Given the description of an element on the screen output the (x, y) to click on. 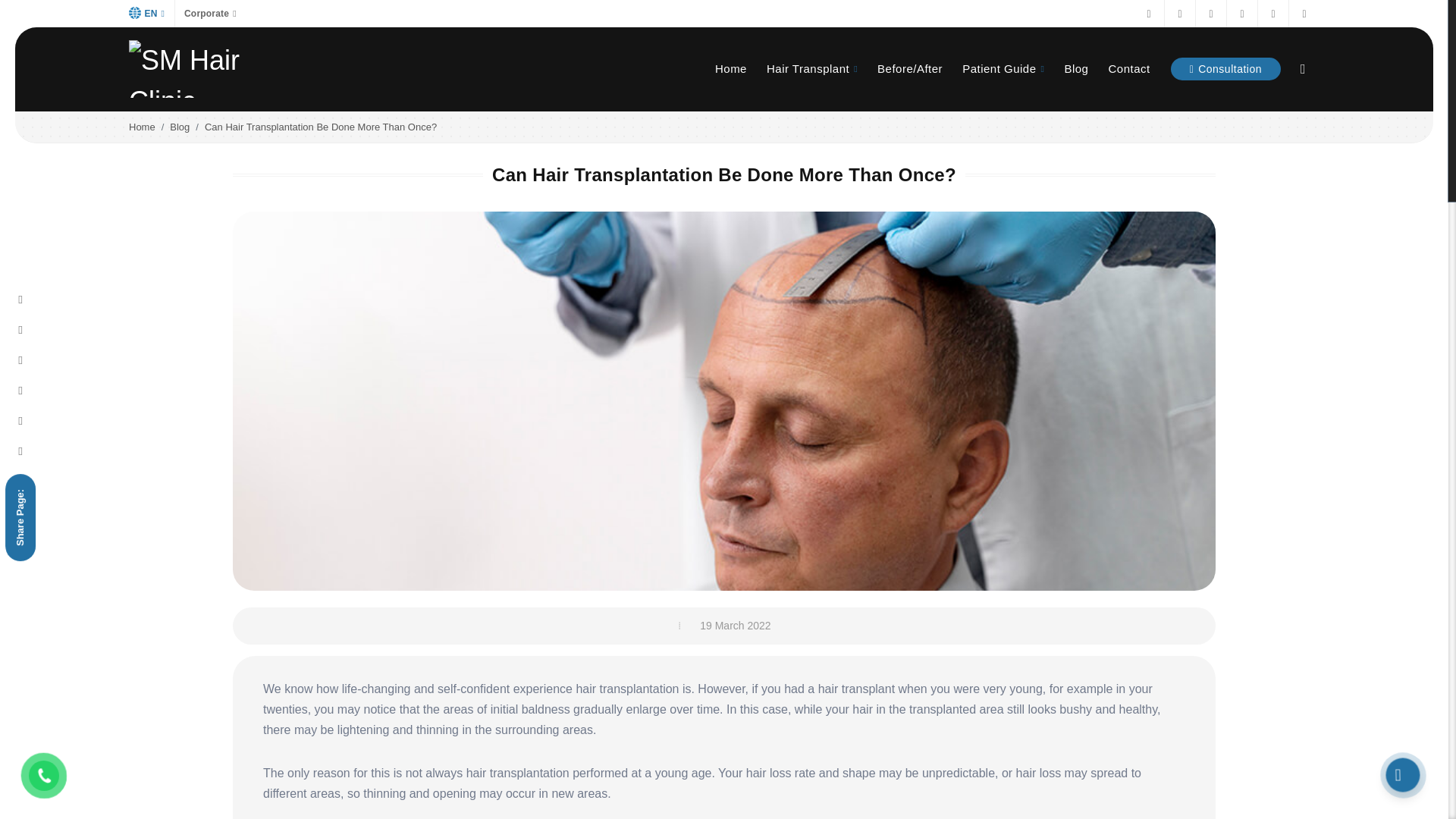
Our Instagram Page (1179, 13)
Corporate (210, 13)
Our Youtube Page (1210, 13)
Home (730, 68)
Our Facebook Page (1148, 13)
Search in site (1305, 68)
Consultation (1225, 68)
Hair Transplant (811, 68)
Our E-Mail Address (1303, 13)
EN (146, 13)
Home (730, 68)
Our Customer Service Line (1272, 13)
Our Twitter Page (1242, 13)
